Given the description of an element on the screen output the (x, y) to click on. 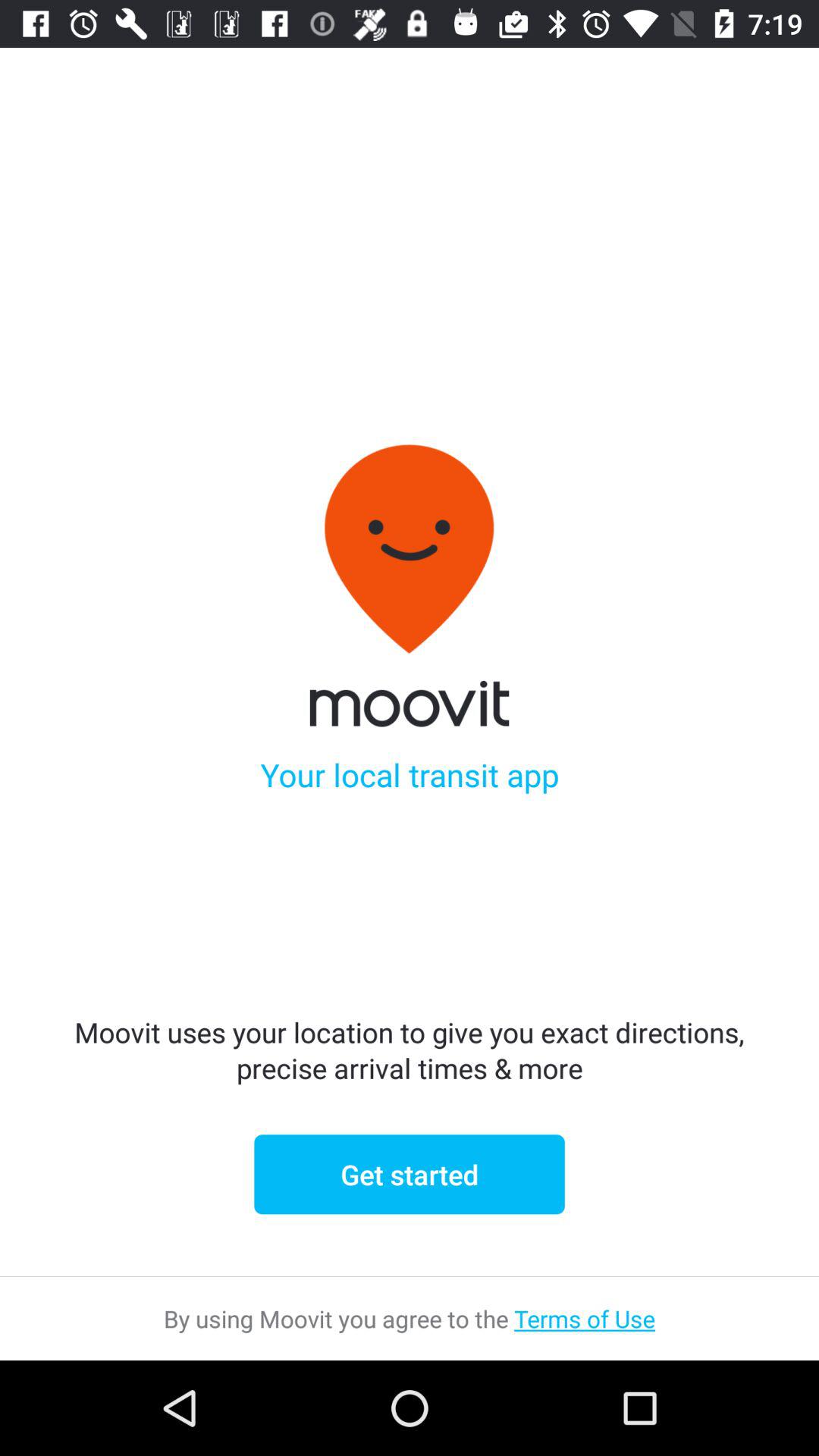
jump until get started (409, 1174)
